Given the description of an element on the screen output the (x, y) to click on. 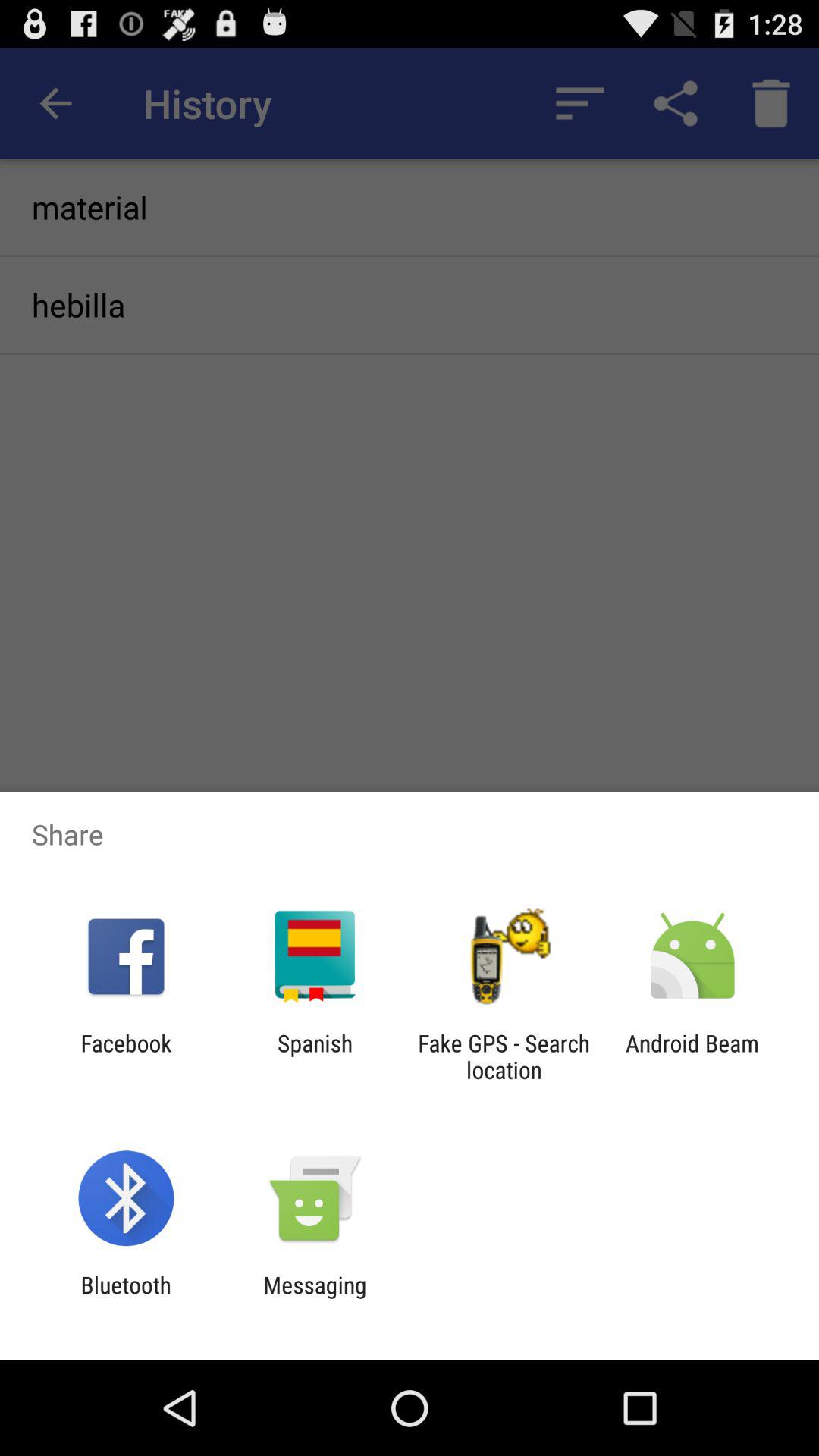
launch app to the right of spanish icon (503, 1056)
